Given the description of an element on the screen output the (x, y) to click on. 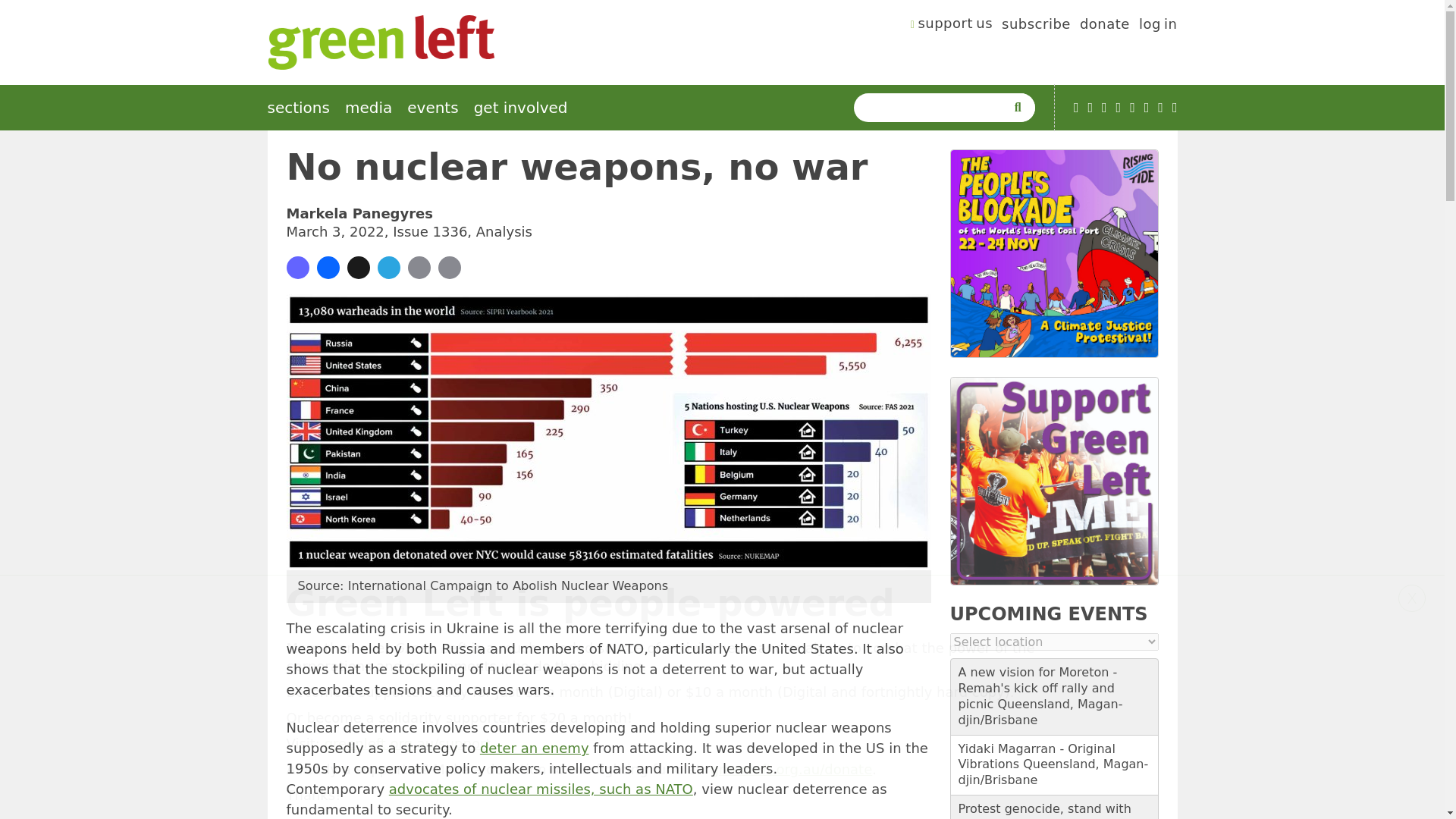
log in (1157, 26)
Enter the terms you wish to search for. (932, 107)
subscribe (1035, 26)
Share on X (358, 267)
support us (951, 26)
Share on Mastondon (297, 267)
Print (449, 267)
Share on Facebook (328, 267)
events (432, 107)
Share on Telegram (388, 267)
